Given the description of an element on the screen output the (x, y) to click on. 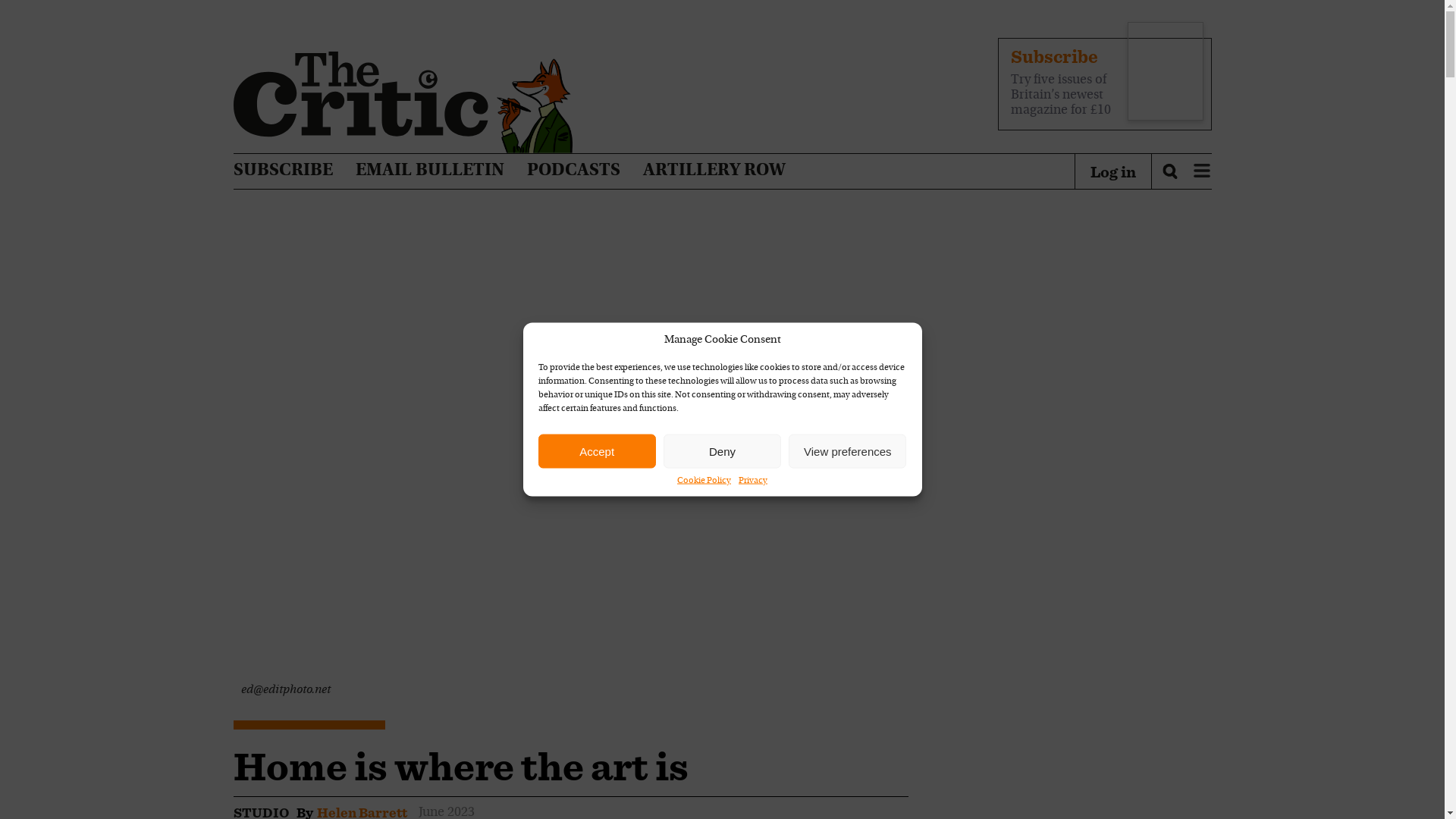
Privacy (752, 480)
Deny (721, 450)
STUDIO (260, 811)
Cookie Policy (703, 480)
Accept (597, 450)
Log in (1112, 171)
View preferences (847, 450)
PODCASTS (572, 171)
Posts by Helen Barrett (362, 811)
ARTILLERY ROW (714, 171)
